Given the description of an element on the screen output the (x, y) to click on. 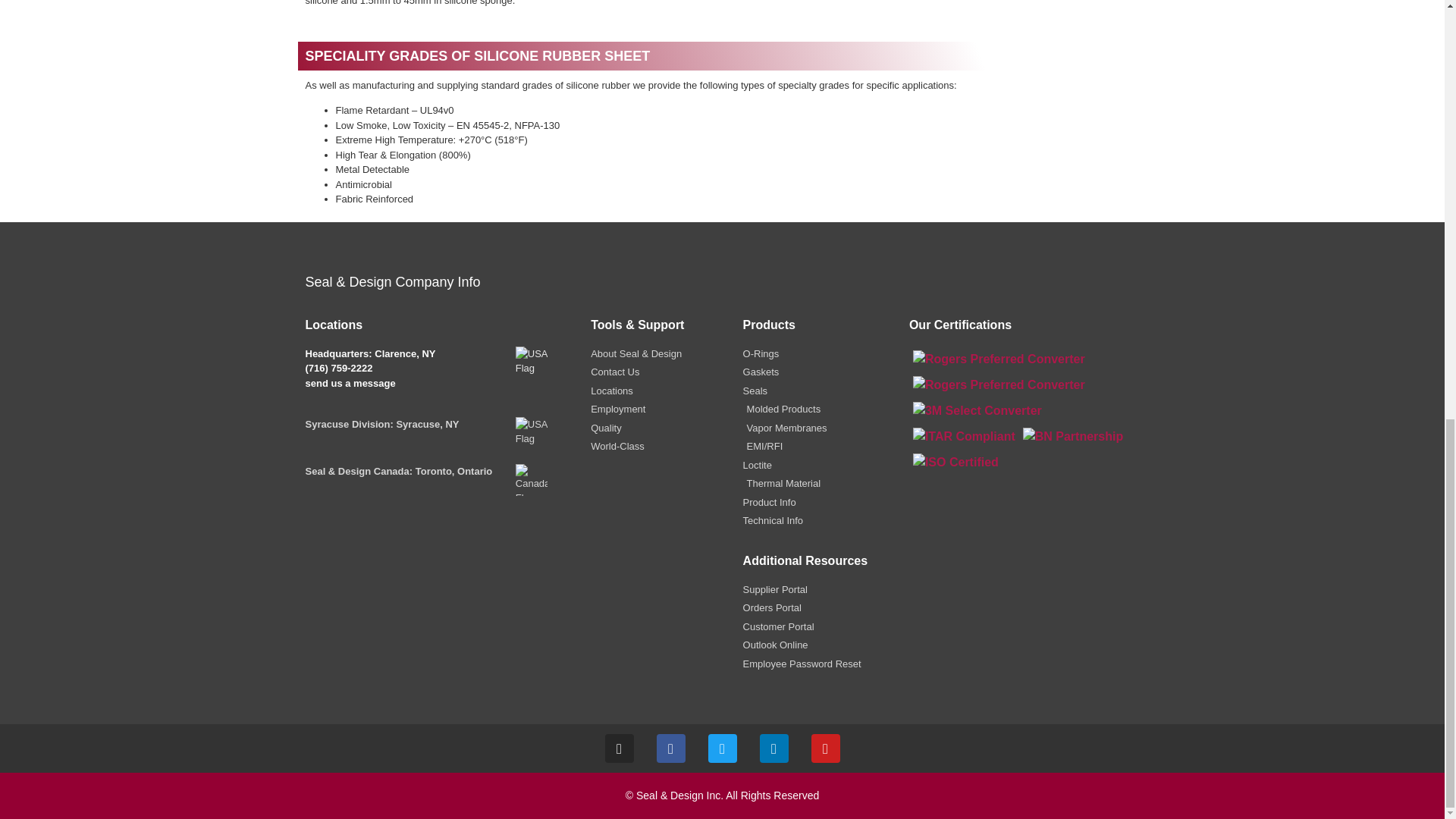
Canada Flag (531, 480)
USA Flag (531, 362)
USA Flag (531, 432)
